Given the description of an element on the screen output the (x, y) to click on. 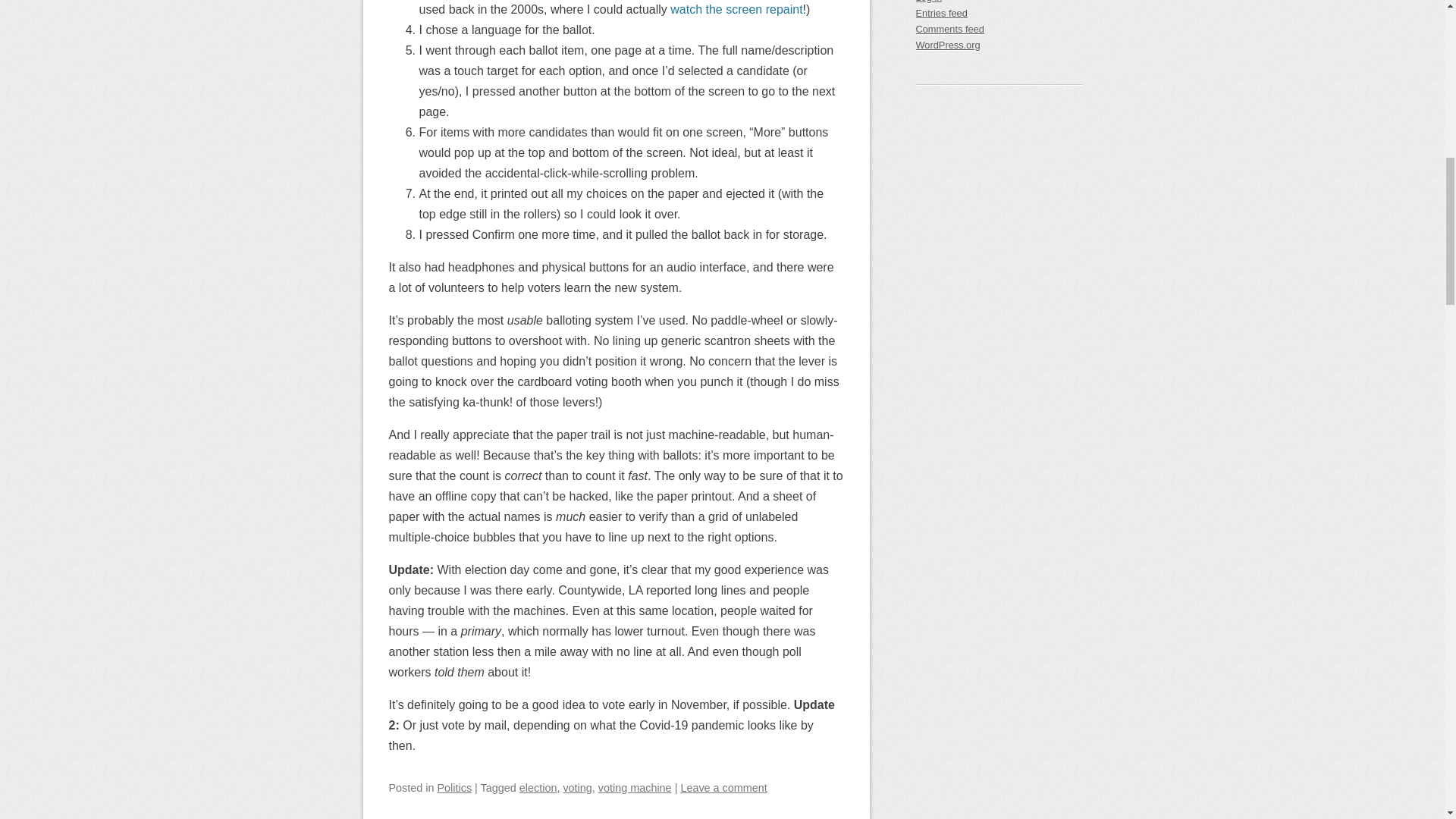
voting (576, 787)
election (538, 787)
Politics (454, 787)
watch the screen repaint (735, 9)
voting machine (634, 787)
Leave a comment (723, 787)
